Given the description of an element on the screen output the (x, y) to click on. 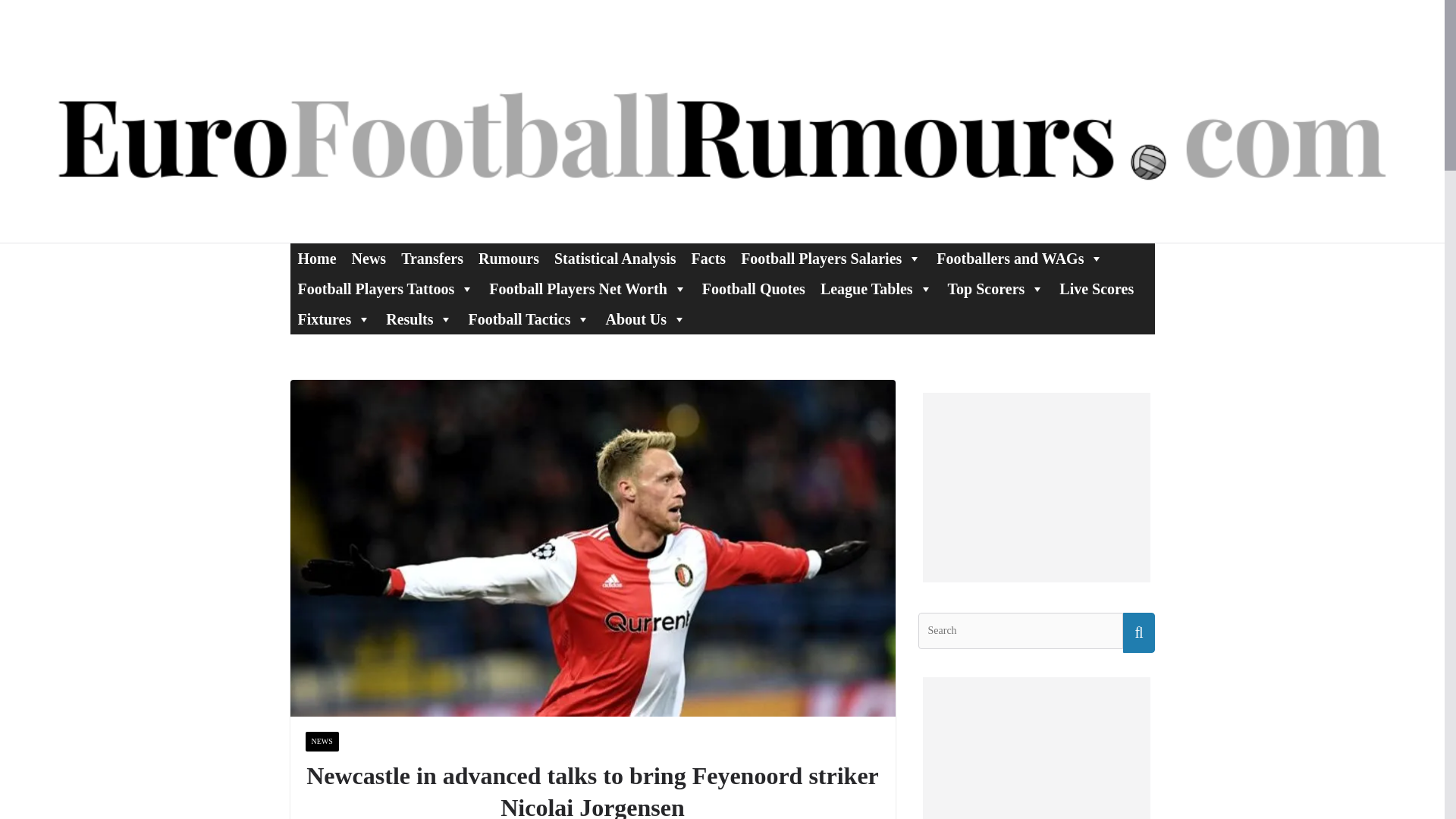
Facts (708, 258)
Transfers (431, 258)
Statistical Analysis (615, 258)
News (368, 258)
Home (316, 258)
Football Players Salaries (830, 258)
Rumours (508, 258)
